Given the description of an element on the screen output the (x, y) to click on. 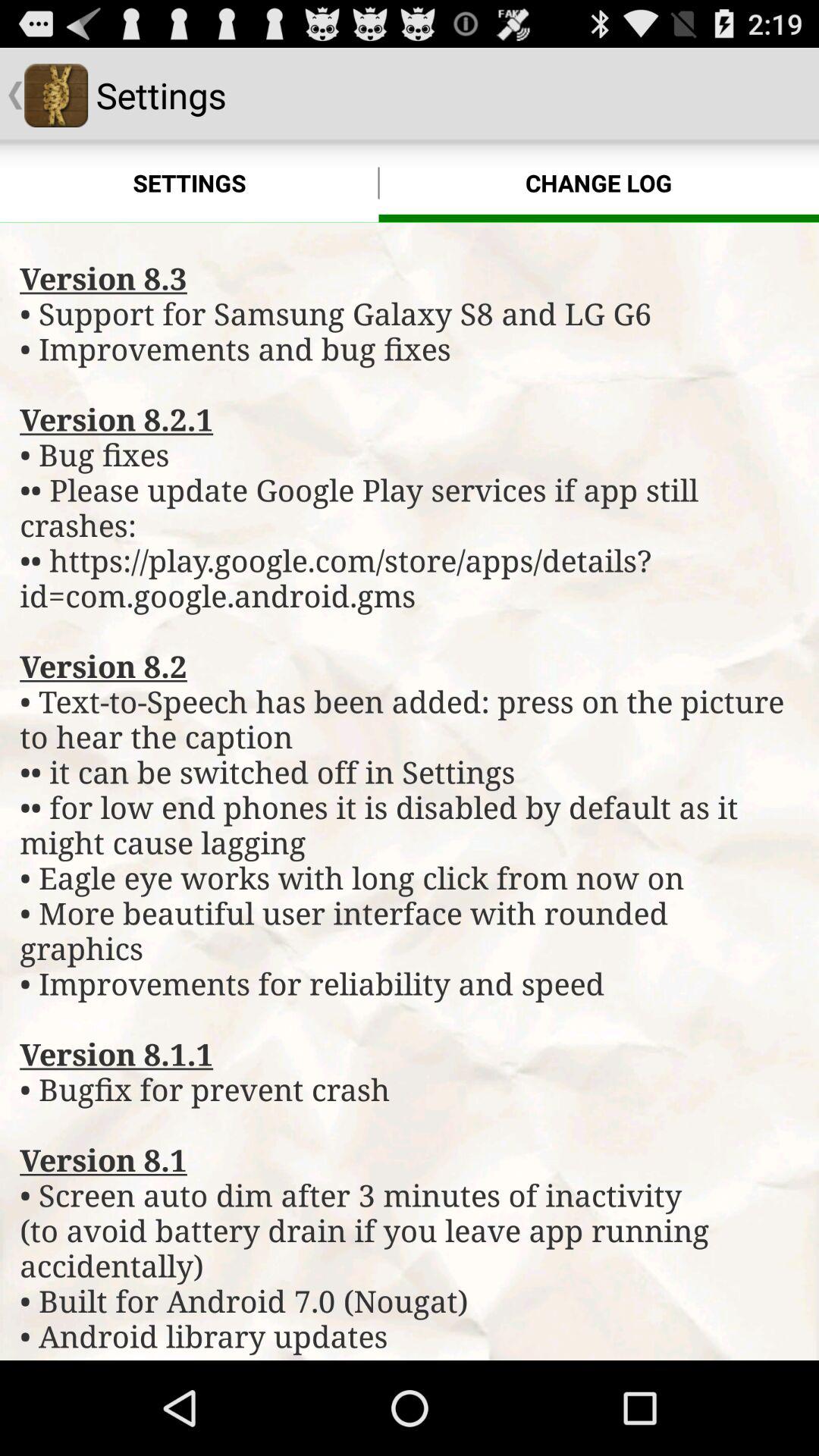
open change log at the top right corner (598, 182)
